Given the description of an element on the screen output the (x, y) to click on. 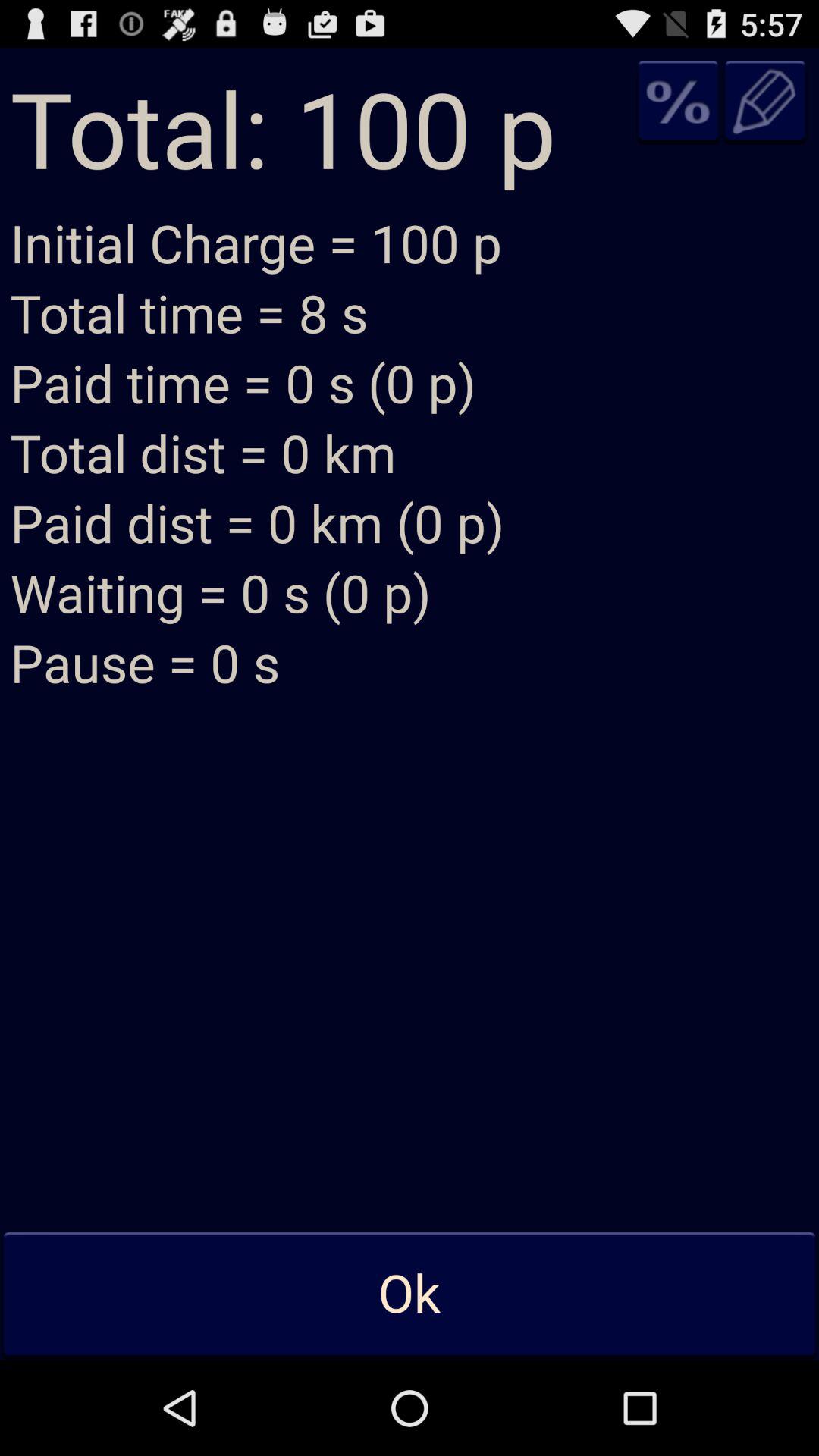
edit options (764, 101)
